Given the description of an element on the screen output the (x, y) to click on. 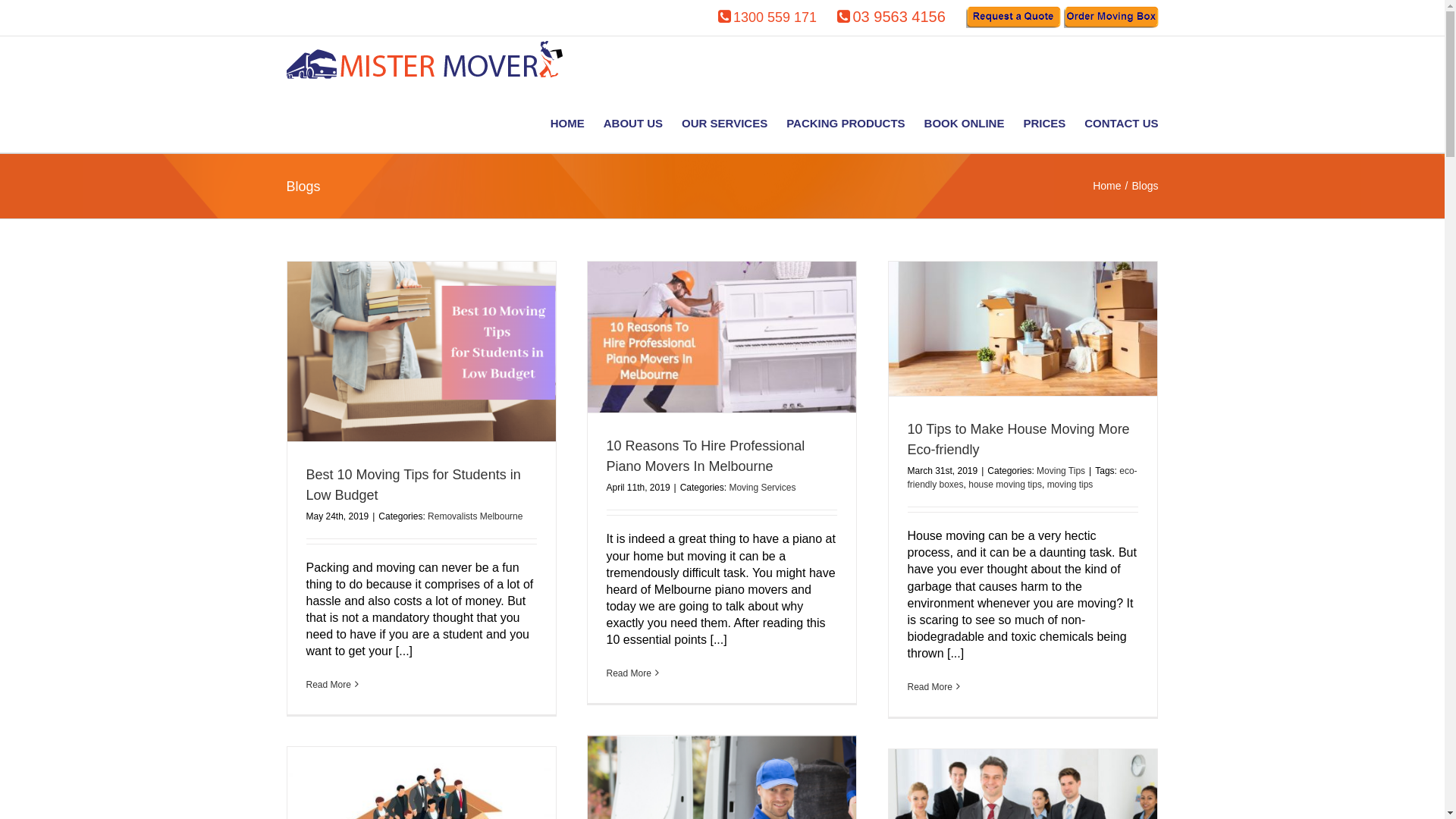
OUR SERVICES Element type: text (724, 120)
house moving tips Element type: text (1004, 484)
Read More Element type: text (628, 673)
BOOK ONLINE Element type: text (964, 120)
PRICES Element type: text (1043, 120)
Home Element type: text (1106, 185)
10 Reasons To Hire Professional Piano Movers In Melbourne Element type: text (705, 455)
Moving Tips Element type: text (1060, 470)
HOME Element type: text (567, 120)
eco-friendly boxes Element type: text (1021, 477)
Moving Services Element type: text (761, 487)
Removalists Melbourne Element type: text (474, 516)
10 Tips to Make House Moving More Eco-friendly Element type: text (1017, 439)
CONTACT US Element type: text (1120, 120)
Best 10 Moving Tips for Students in Low Budget Element type: text (413, 484)
ABOUT US Element type: text (632, 120)
1300 559 171 Element type: text (774, 17)
Read More Element type: text (328, 684)
03 9563 4156 Element type: text (898, 16)
Read More Element type: text (928, 686)
moving tips Element type: text (1070, 484)
PACKING PRODUCTS Element type: text (845, 120)
